Given the description of an element on the screen output the (x, y) to click on. 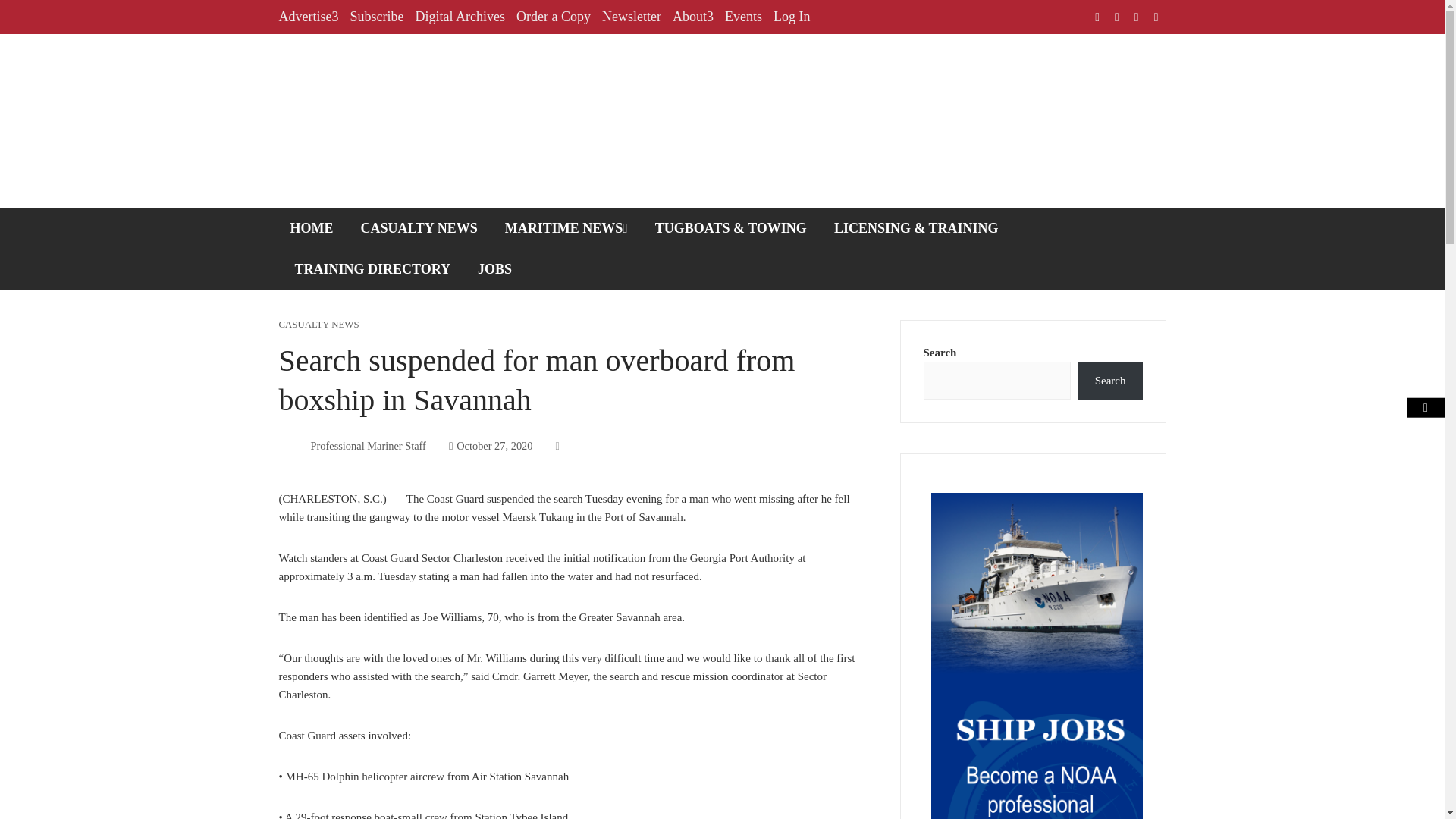
JOBS (493, 268)
Subscribe (376, 17)
CASUALTY NEWS (319, 325)
Events (743, 17)
Log In (791, 17)
TRAINING DIRECTORY (373, 268)
Newsletter (631, 17)
Advertise (309, 17)
Order a Copy (553, 17)
HOME (312, 228)
